Given the description of an element on the screen output the (x, y) to click on. 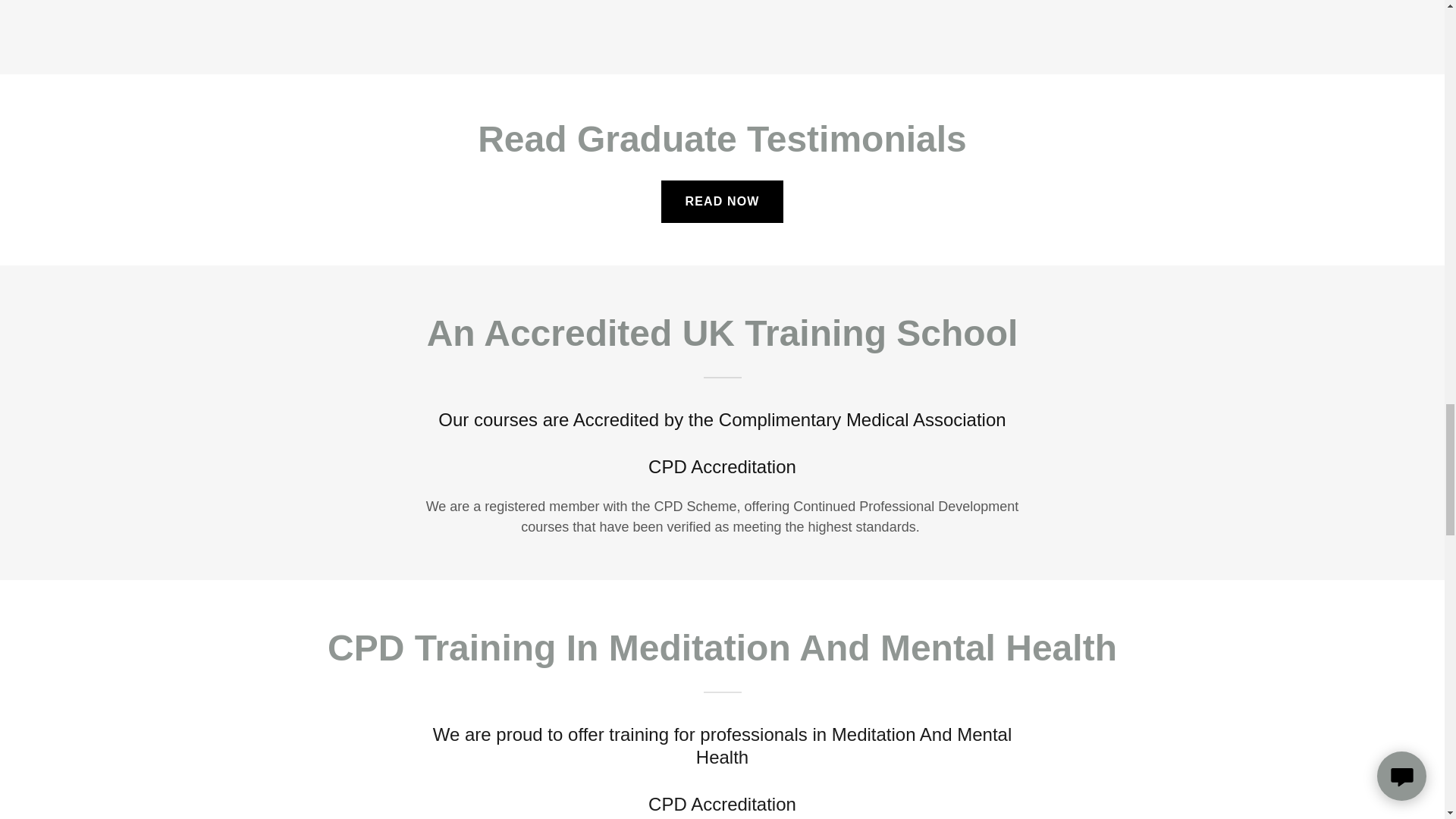
READ NOW (722, 201)
